Given the description of an element on the screen output the (x, y) to click on. 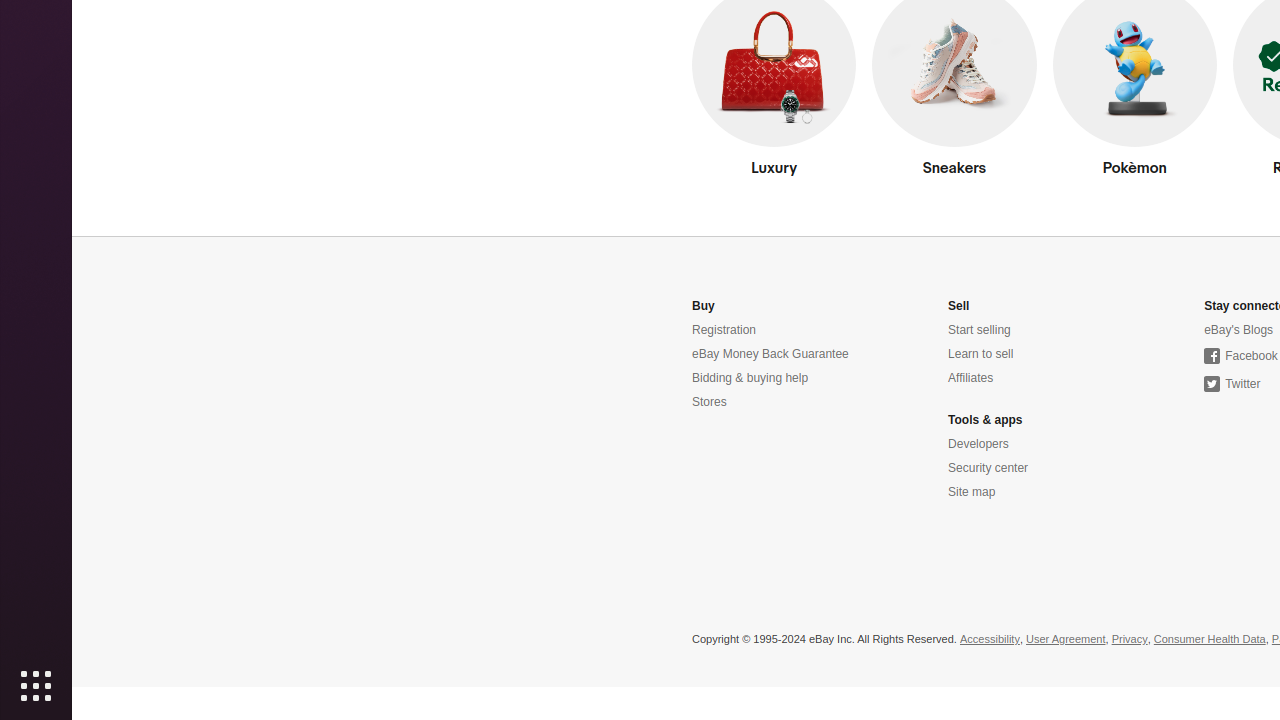
Developers Element type: link (978, 444)
Bidding & buying help Element type: link (750, 378)
Facebook Element type: link (1241, 356)
Show Applications Element type: toggle-button (36, 686)
